Given the description of an element on the screen output the (x, y) to click on. 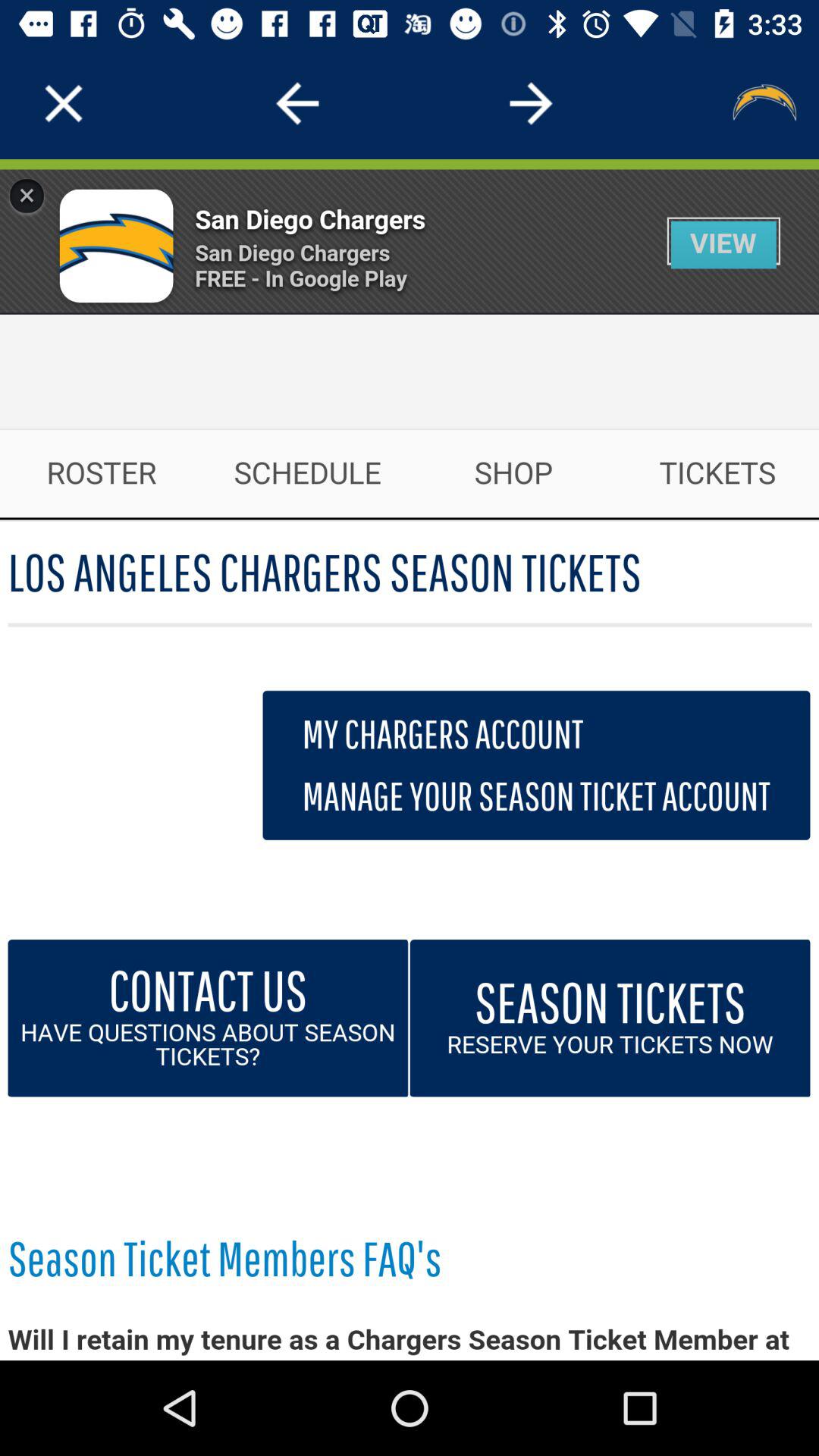
press the icon at the top left corner (63, 103)
